Given the description of an element on the screen output the (x, y) to click on. 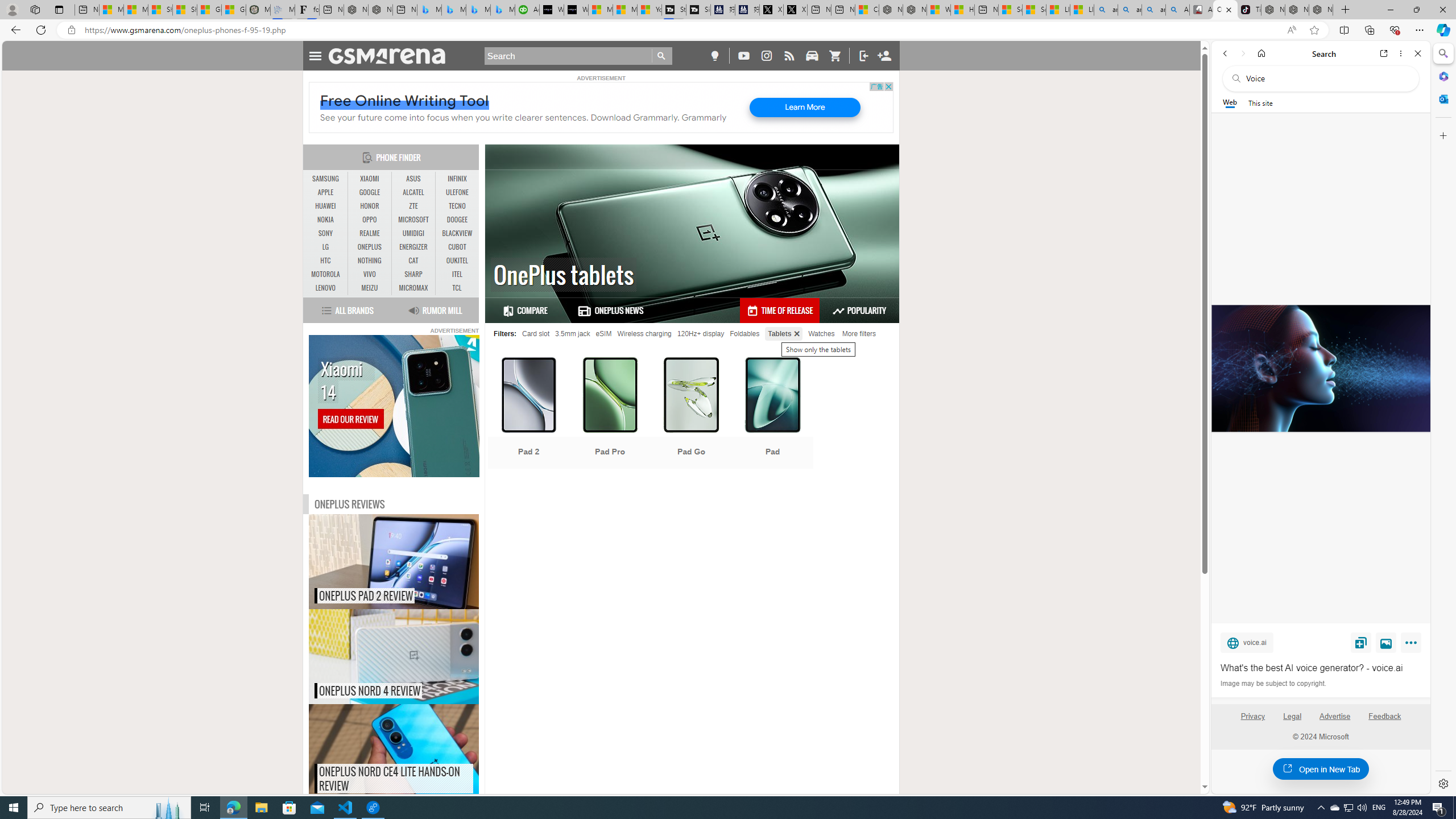
CUBOT (457, 246)
NOTHING (369, 260)
Nordace - Siena Pro 15 Essential Set (1321, 9)
XIAOMI (369, 178)
Image may be subject to copyright. (1273, 682)
SONY (325, 233)
This site scope (1259, 102)
Wireless charging (644, 333)
Card slot (536, 333)
